Given the description of an element on the screen output the (x, y) to click on. 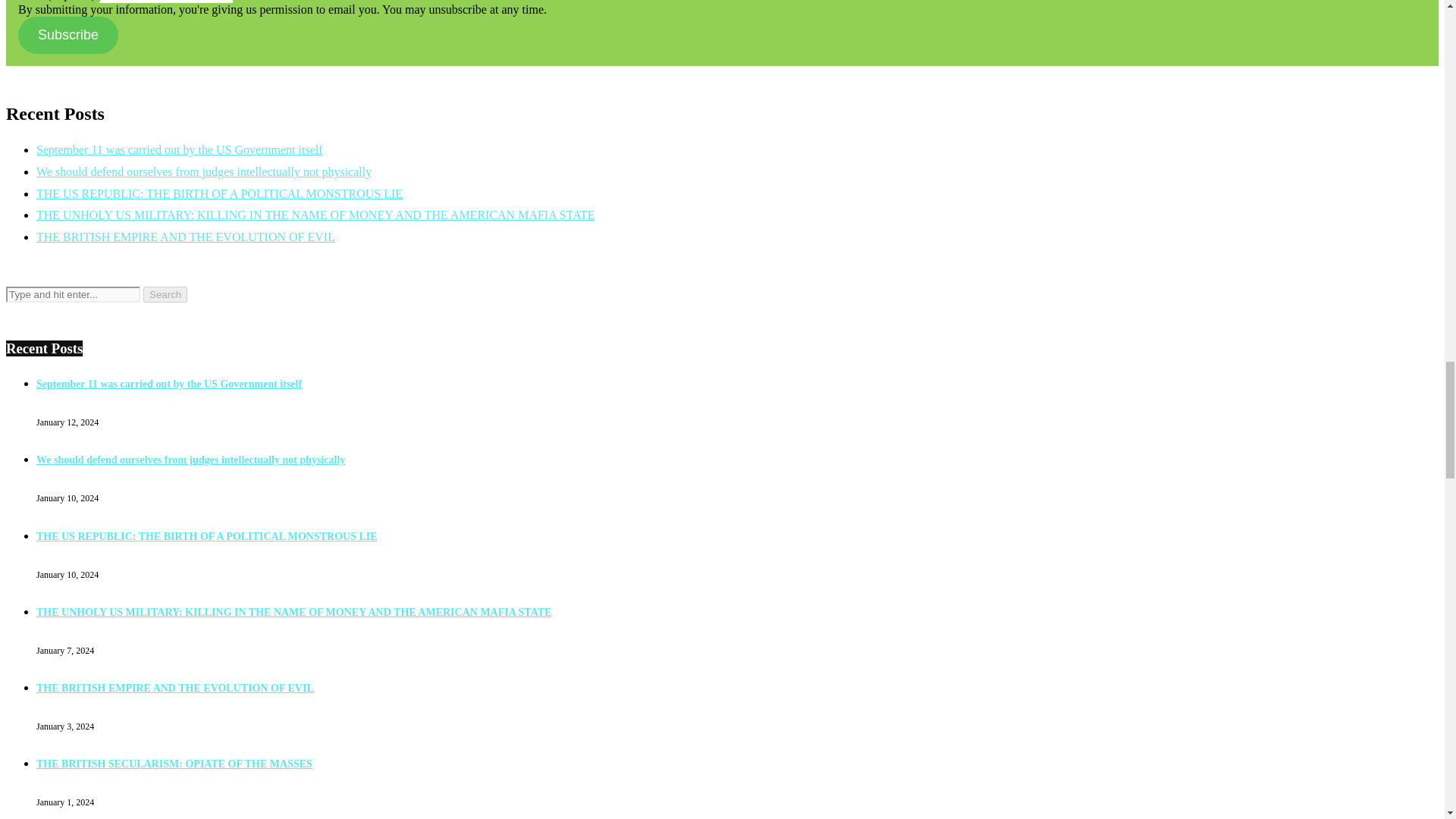
Search (164, 294)
Search (164, 294)
September 11 was carried out by the US Government itself (168, 383)
